Given the description of an element on the screen output the (x, y) to click on. 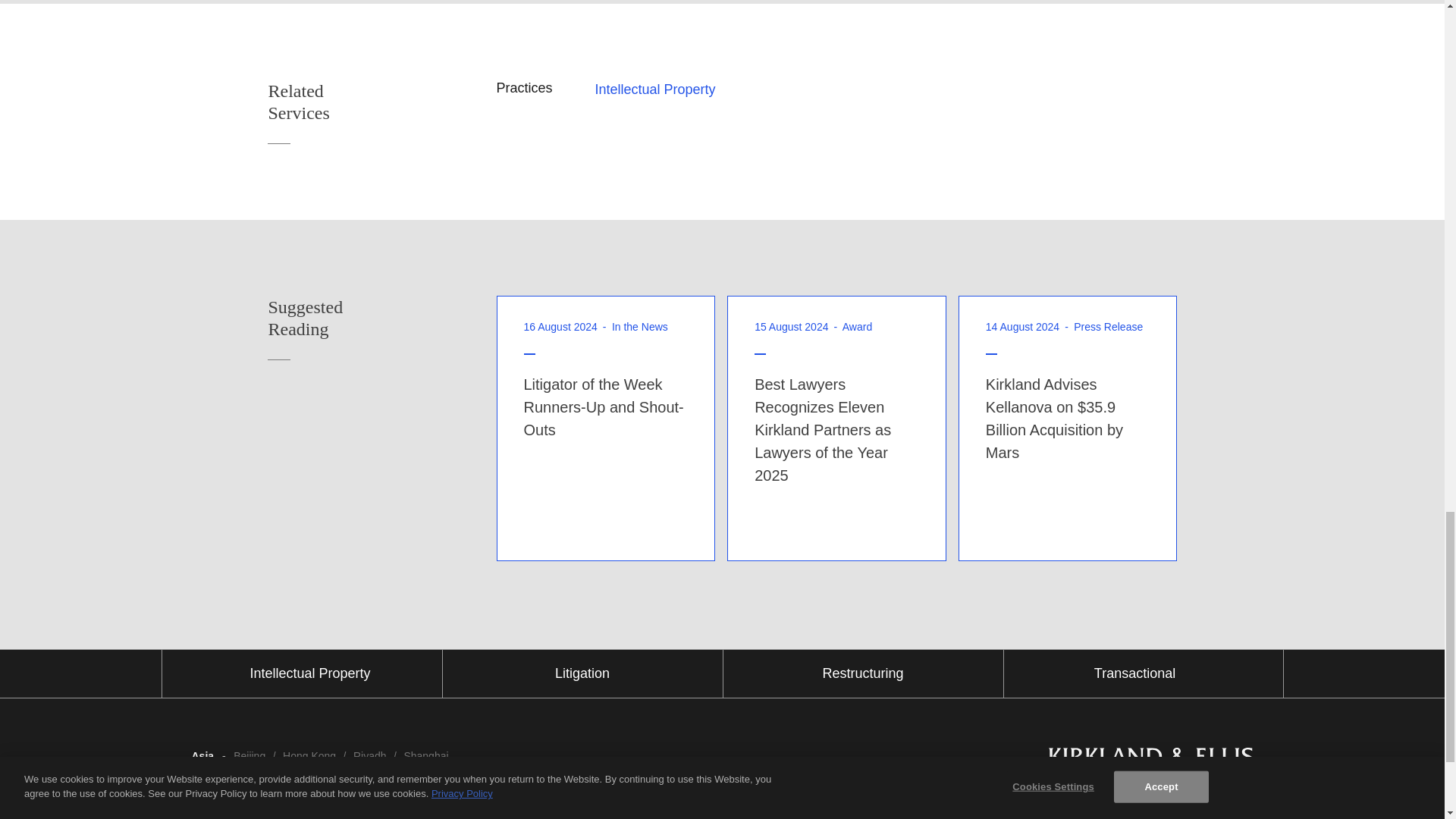
Restructuring (863, 673)
Litigation (368, 318)
Intellectual Property (368, 102)
Transactional (582, 673)
Intellectual Property (654, 89)
